Given the description of an element on the screen output the (x, y) to click on. 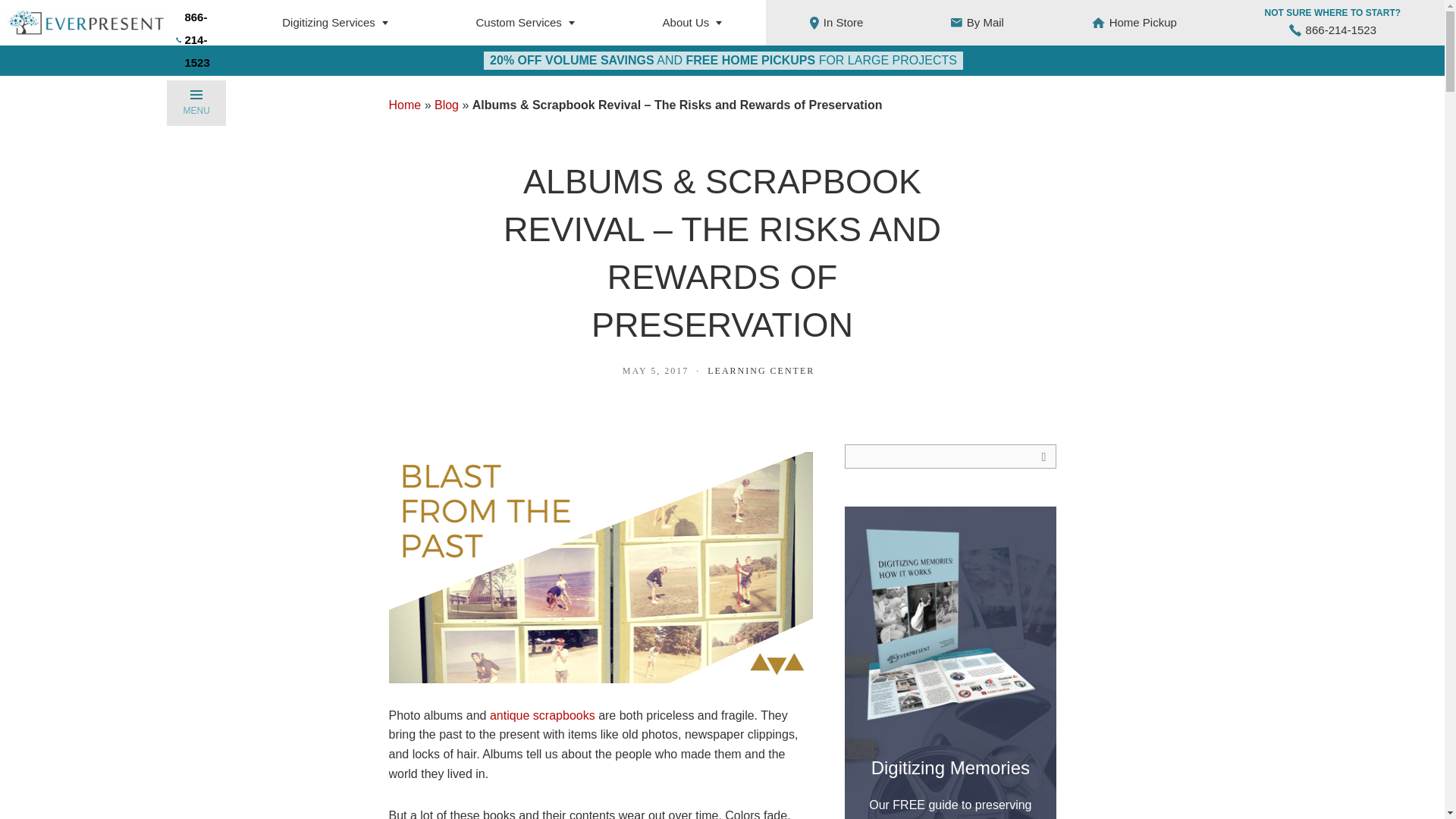
Home Pickup (1133, 22)
866-214-1523 (1332, 30)
Search (1042, 456)
In Store (836, 22)
Custom Services (525, 22)
About Us (692, 22)
Digitizing Services (334, 22)
By Mail (976, 22)
